Given the description of an element on the screen output the (x, y) to click on. 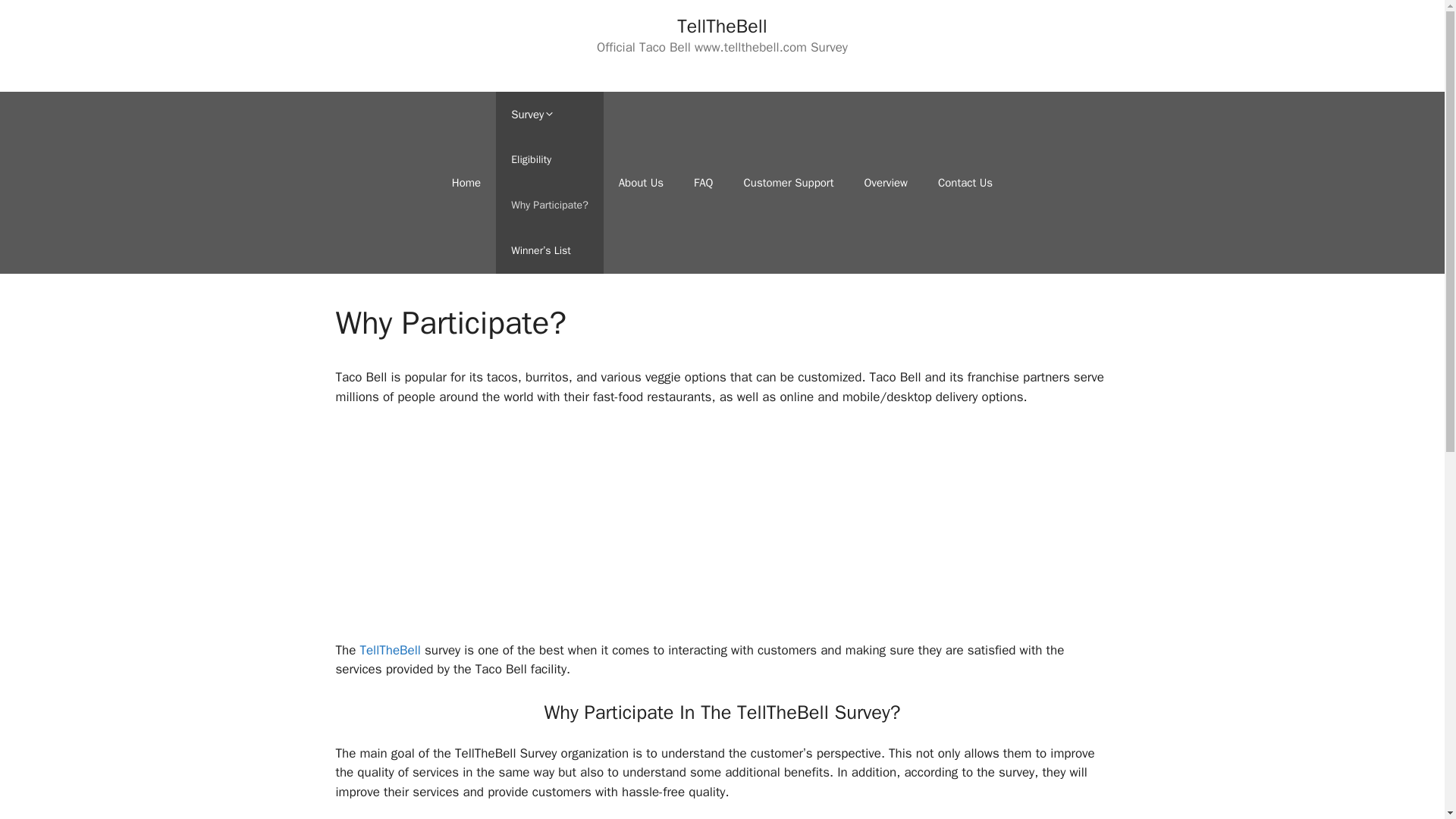
Survey (550, 114)
Overview (885, 182)
FAQ (703, 182)
Home (466, 182)
TellTheBell (722, 25)
Eligibility (550, 159)
About Us (641, 182)
TellTheBell (389, 650)
Why Participate? (550, 205)
Customer Support (788, 182)
Contact Us (965, 182)
